Given the description of an element on the screen output the (x, y) to click on. 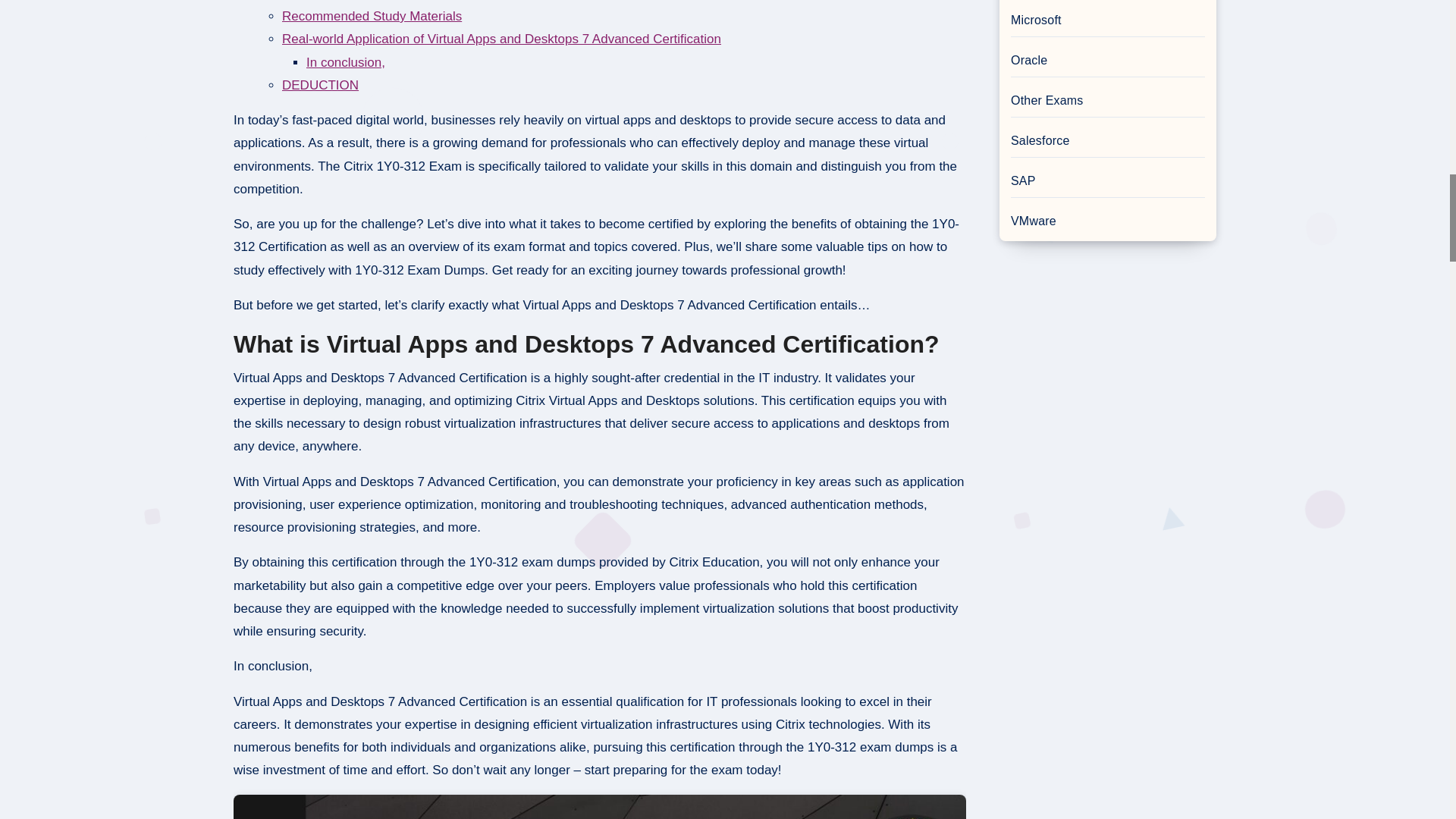
Recommended Study Materials (371, 16)
In conclusion, (345, 62)
1Y0-312 Exam Dumps (599, 806)
DEDUCTION (320, 84)
